Given the description of an element on the screen output the (x, y) to click on. 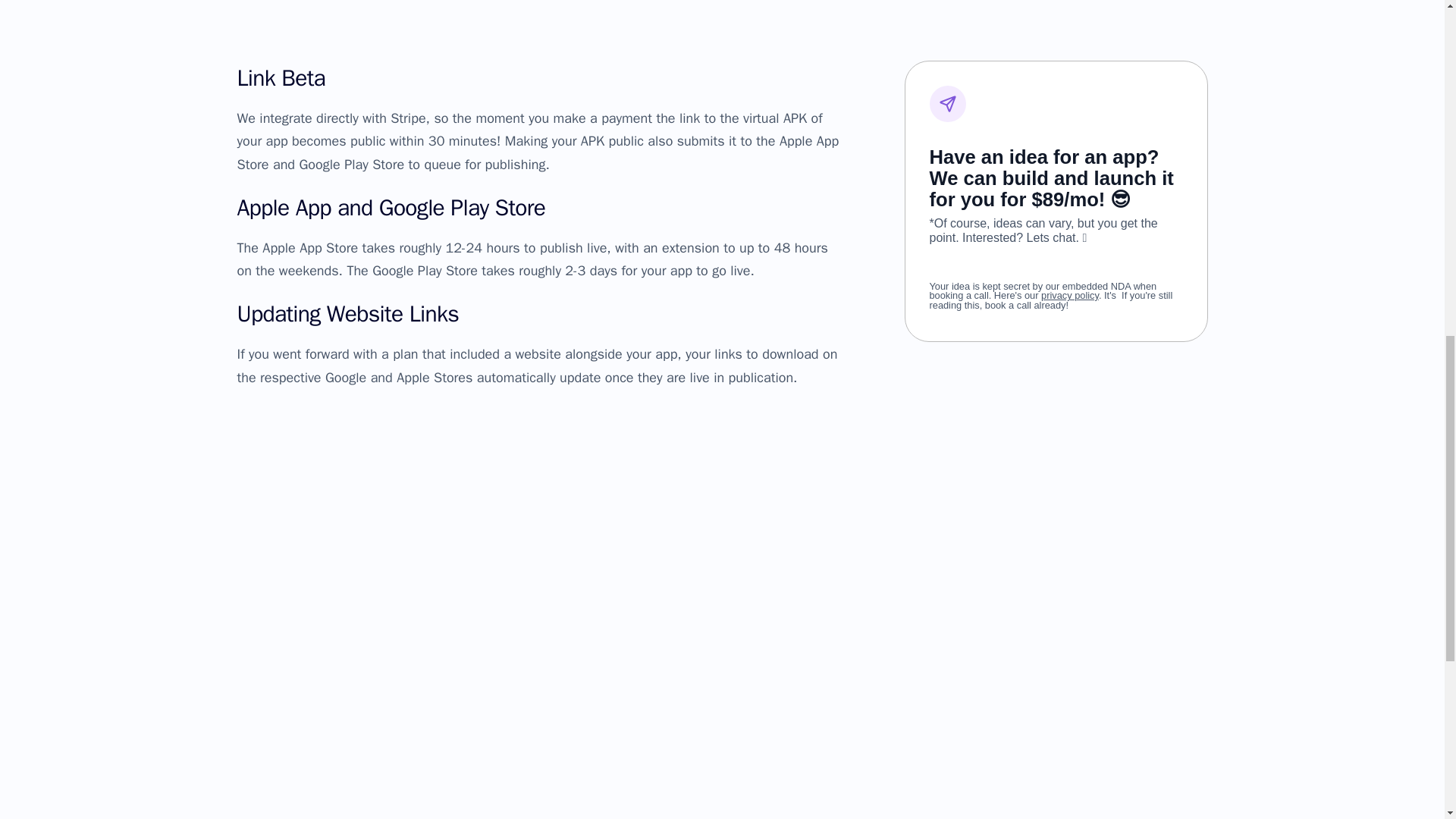
privacy policy (1070, 281)
